Given the description of an element on the screen output the (x, y) to click on. 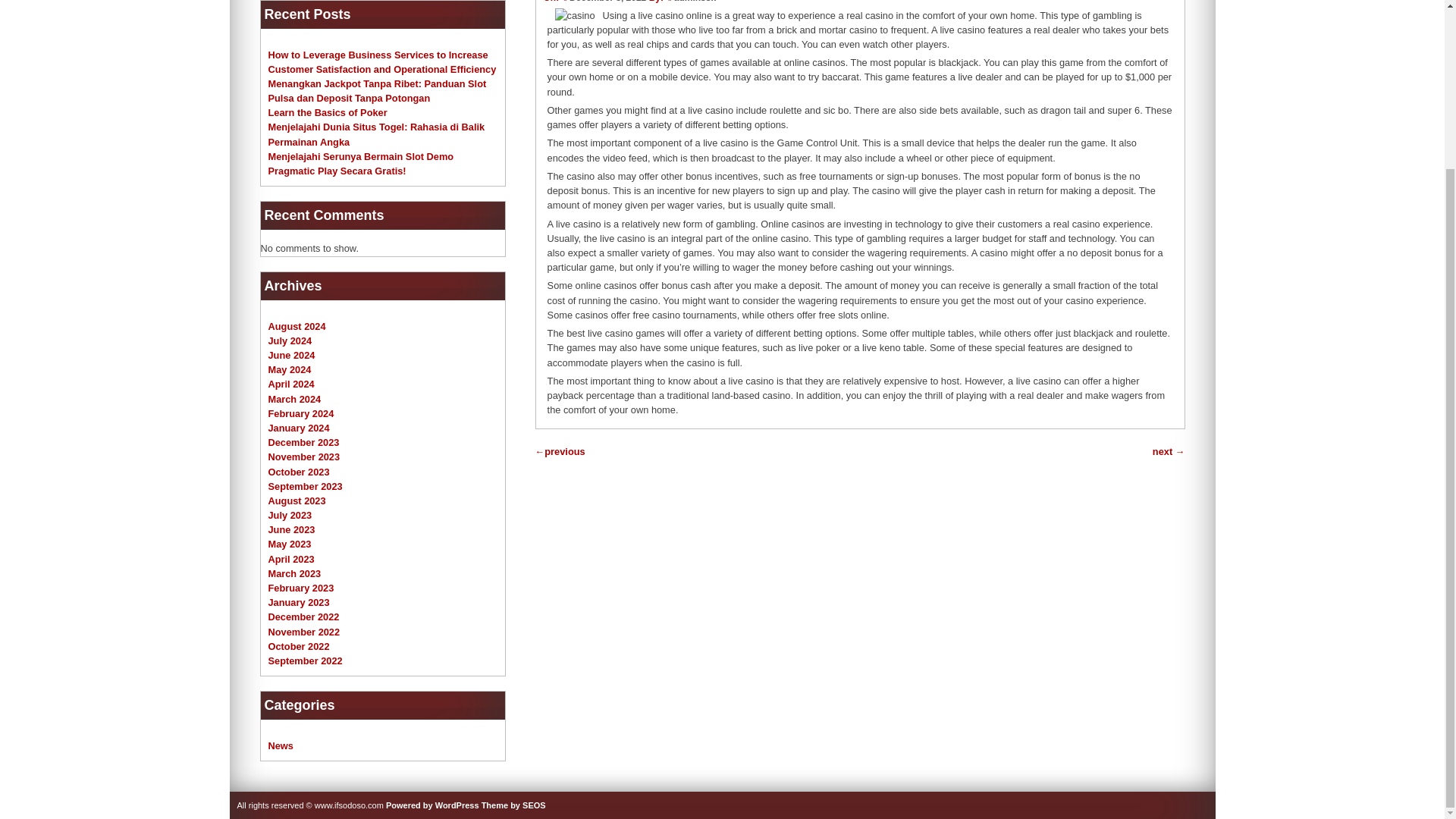
September 2023 (304, 486)
December 2022 (303, 616)
December 3, 2022 (603, 1)
September 2022 (304, 660)
January 2023 (298, 602)
October 2023 (298, 471)
August 2023 (296, 500)
August 2024 (296, 326)
adminssk (695, 1)
